Given the description of an element on the screen output the (x, y) to click on. 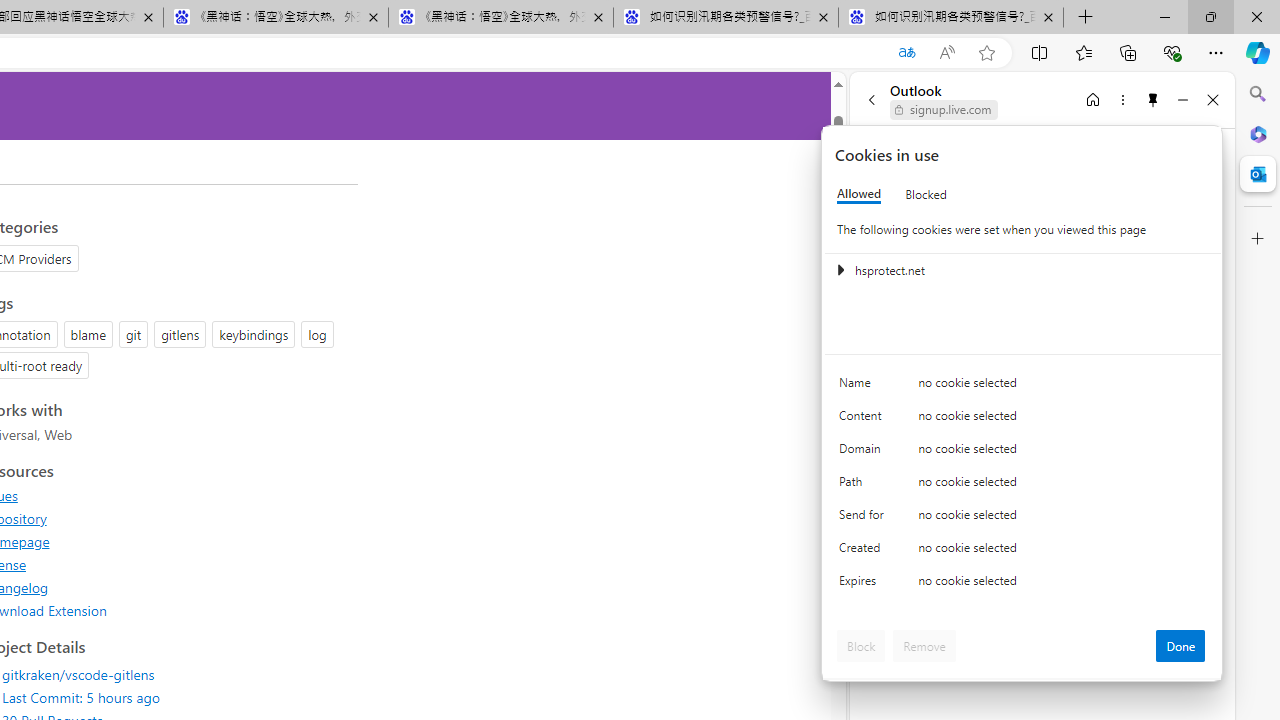
Class: c0153 c0157 (1023, 584)
Allowed (859, 193)
Path (864, 485)
Expires (864, 585)
Domain (864, 452)
Blocked (925, 193)
no cookie selected (1062, 585)
Send for (864, 518)
Class: c0153 c0157 c0154 (1023, 386)
Remove (924, 645)
Done (1179, 645)
Block (861, 645)
Content (864, 420)
Created (864, 552)
Name (864, 387)
